Given the description of an element on the screen output the (x, y) to click on. 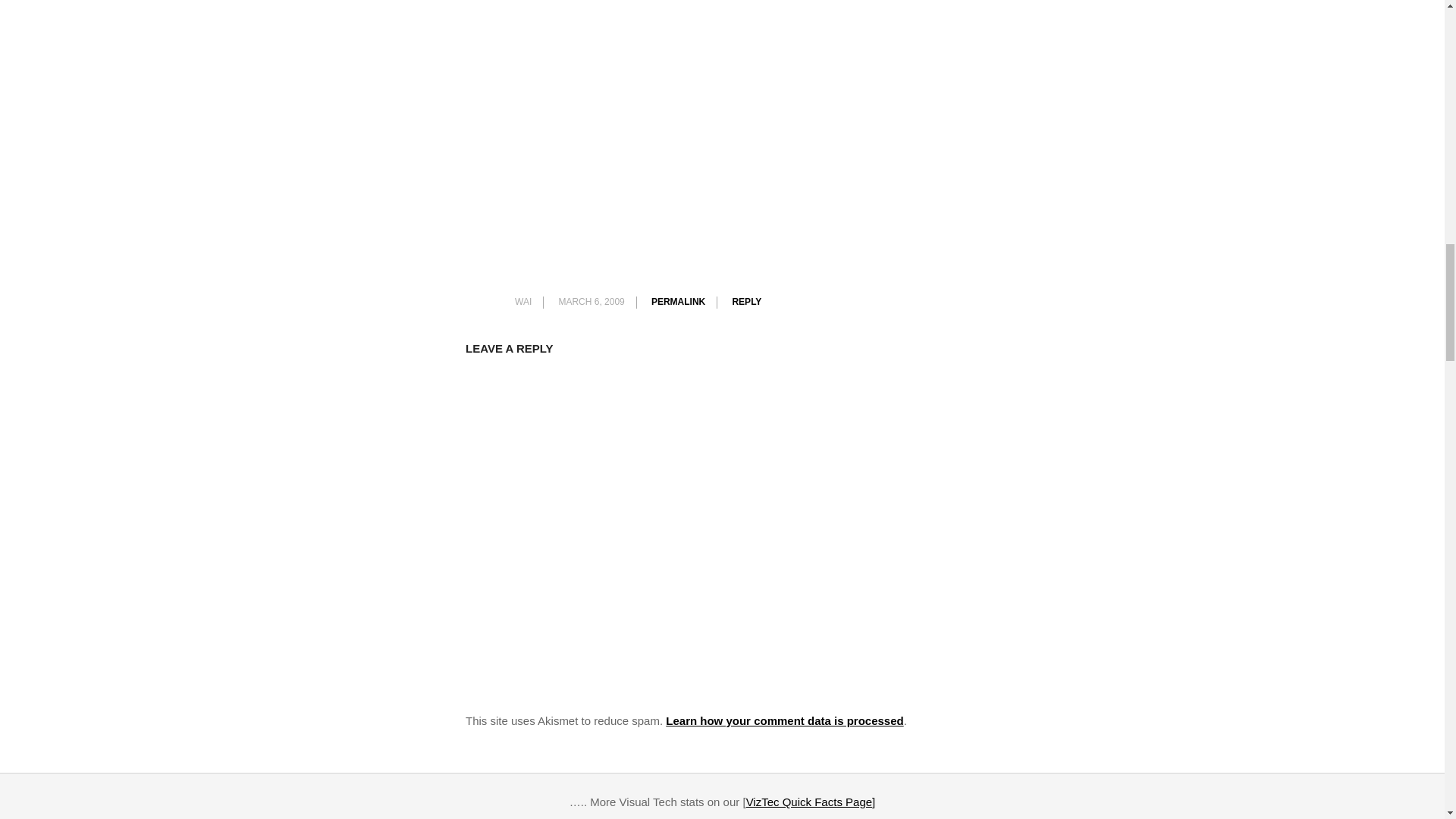
Friday, March 6, 2009, 6:35 am (590, 301)
PERMALINK (677, 301)
Learn how your comment data is processed (783, 720)
REPLY (746, 301)
